Given the description of an element on the screen output the (x, y) to click on. 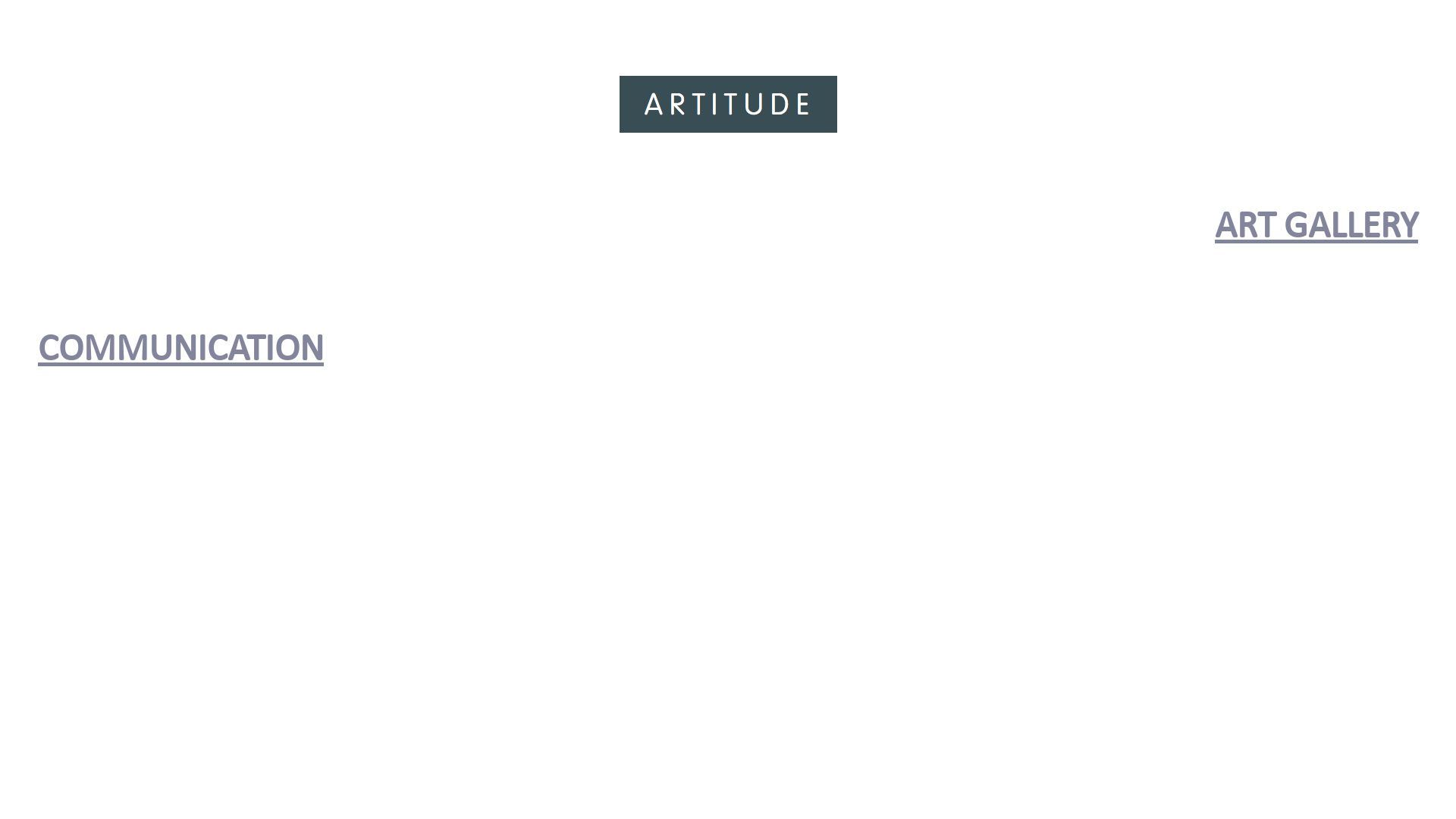
ART GALLERY Element type: text (727, 227)
COMMUNICATION Element type: text (727, 350)
